Given the description of an element on the screen output the (x, y) to click on. 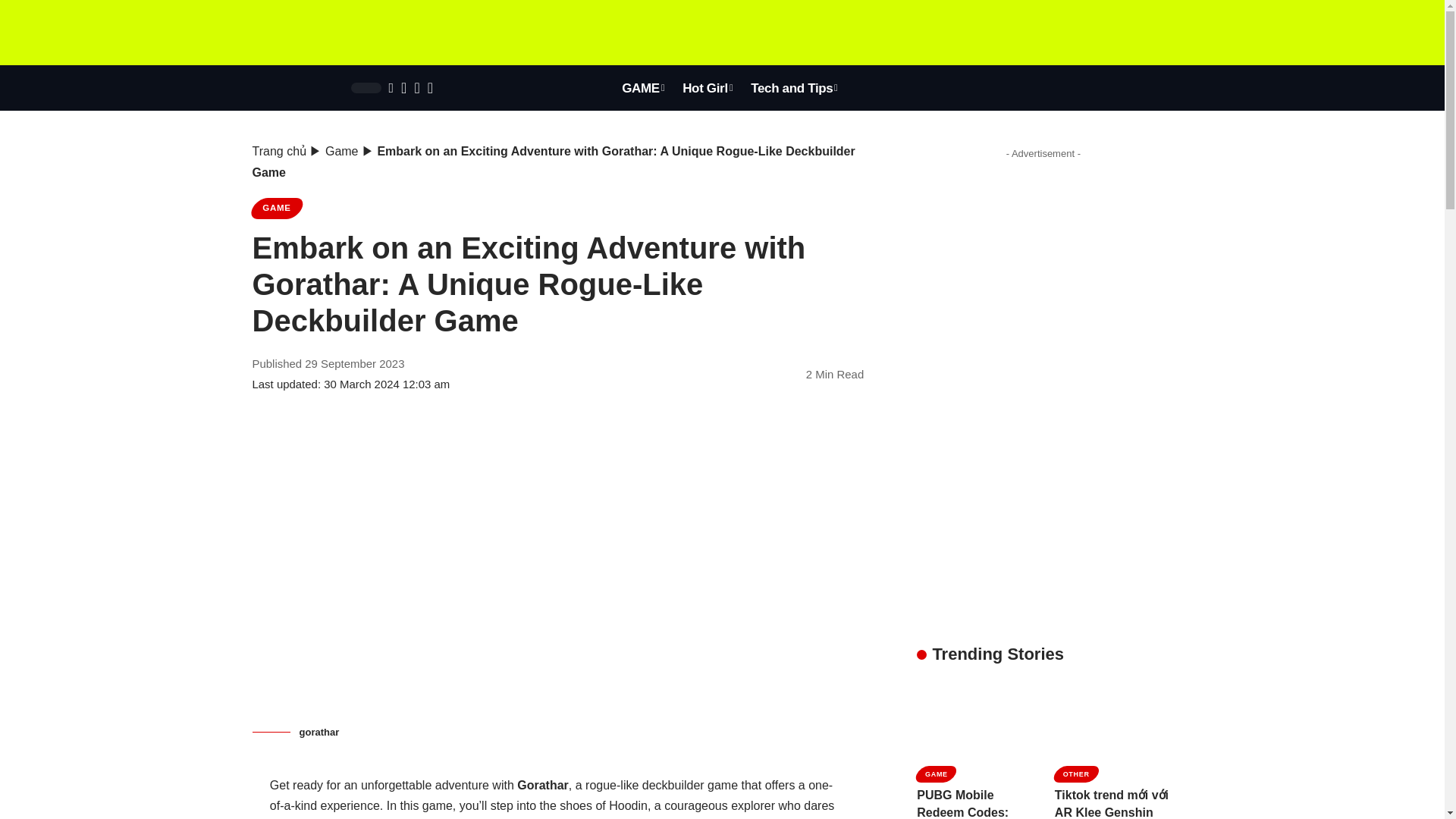
Hot Girl (706, 87)
Game (341, 151)
Tech and Tips (794, 87)
GAME (642, 87)
PUBG Mobile Redeem Codes: August 2023 (974, 720)
GAME (276, 208)
